Given the description of an element on the screen output the (x, y) to click on. 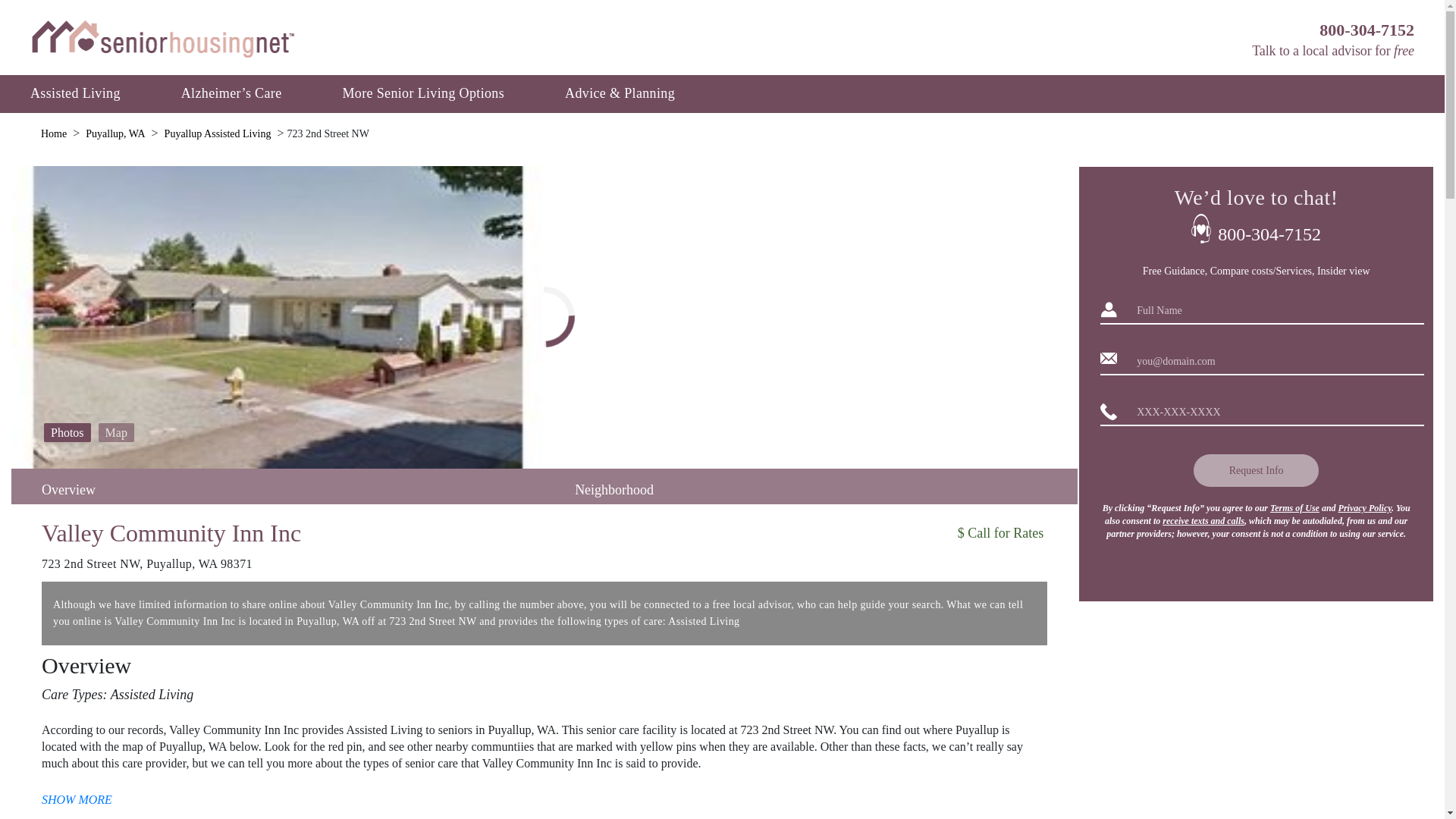
More Senior Living Options (422, 92)
Senior Housing (162, 37)
Puyallup, WA (115, 133)
Puyallup (218, 133)
800-304-7152 (1366, 29)
Assisted Living (75, 92)
Puyallup, WA (115, 133)
More Senior Living Options (422, 92)
Example: 111-111-1111 (1271, 412)
Home (53, 133)
Valley Community Inn Inc (398, 533)
Neighborhood (614, 489)
SHOW MORE (544, 799)
Example: John Smith (1271, 310)
Puyallup Assisted Living (218, 133)
